Given the description of an element on the screen output the (x, y) to click on. 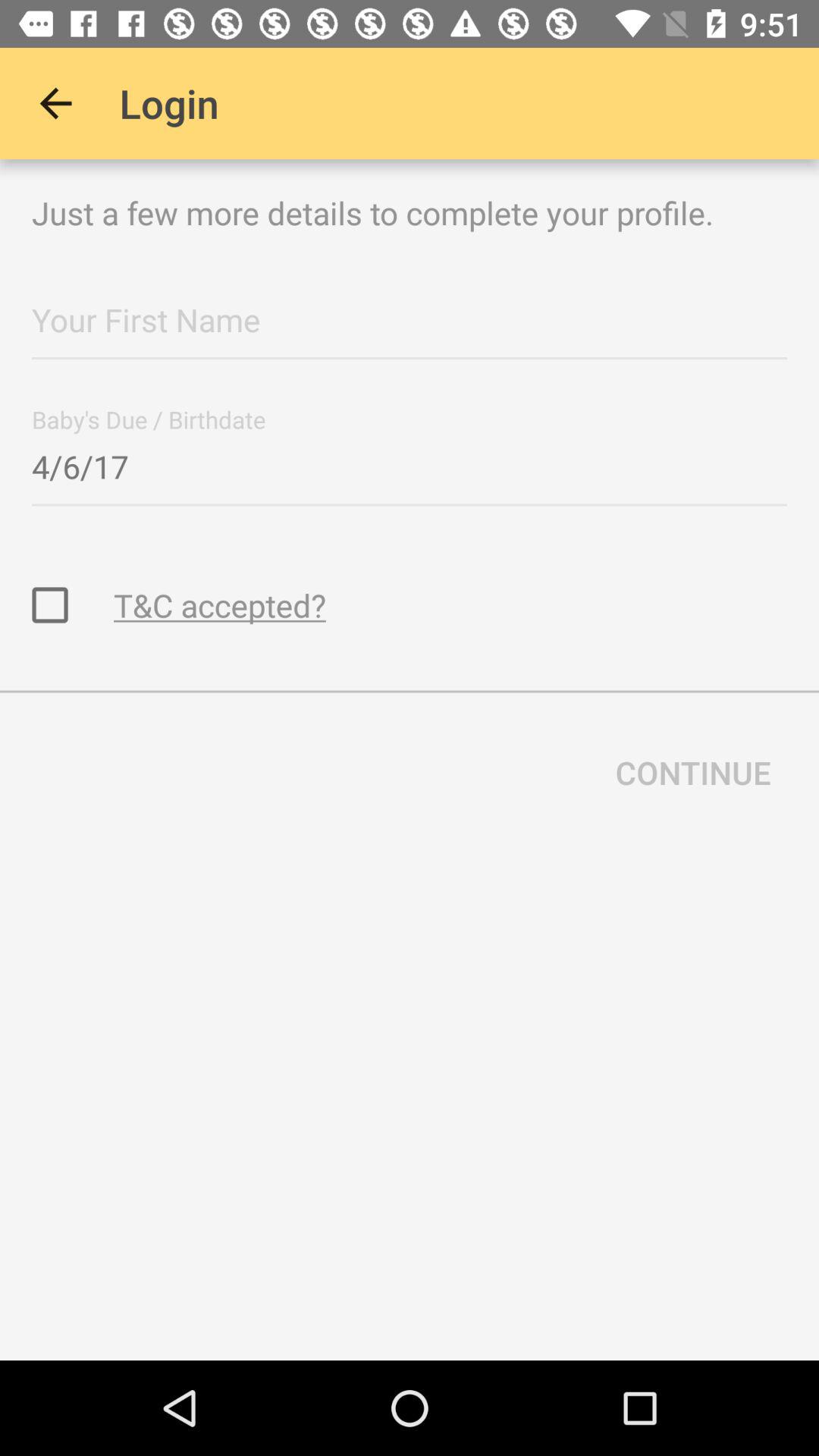
swipe to the t&c accepted? icon (219, 604)
